Given the description of an element on the screen output the (x, y) to click on. 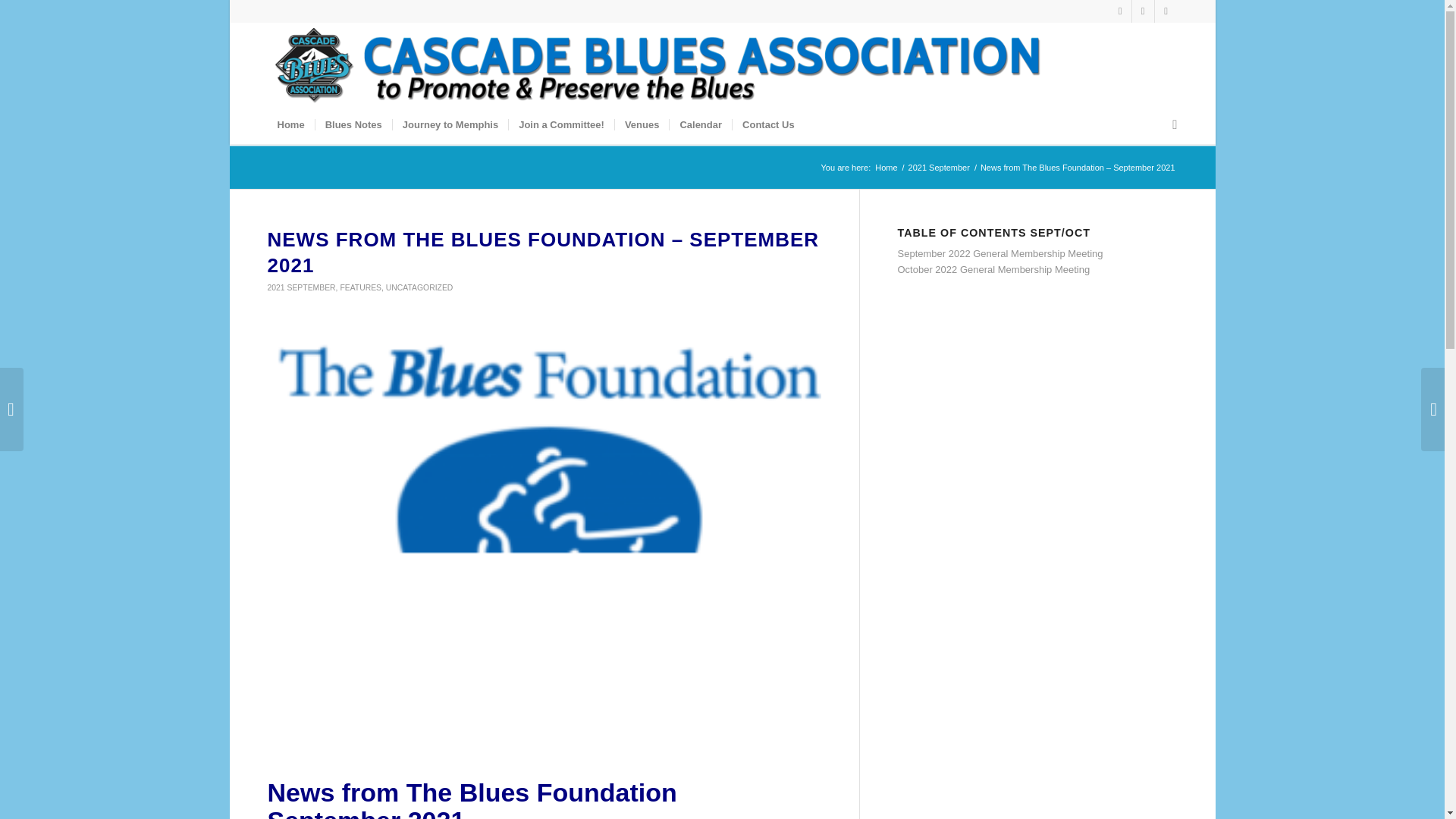
Home (885, 167)
Home (290, 125)
Venues (641, 125)
FEATURES (360, 287)
2021 September (938, 167)
Contact Us (768, 125)
Cascade Blues Association (885, 167)
Join a Committee! (561, 125)
2021 SEPTEMBER (300, 287)
